Given the description of an element on the screen output the (x, y) to click on. 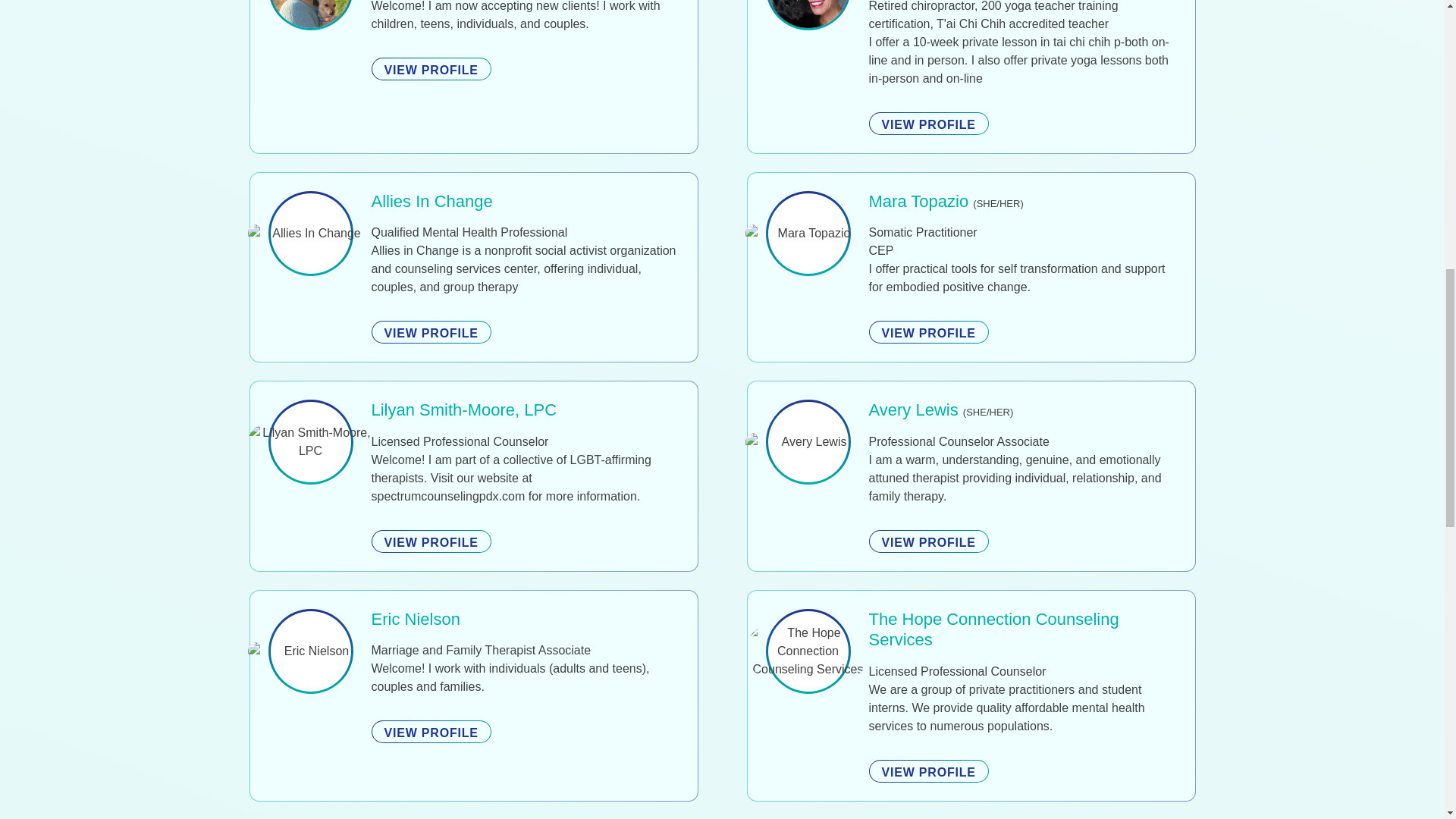
VIEW PROFILE (928, 123)
Allies In Change (432, 200)
Mara Topazio (919, 200)
Eric Nielson (415, 618)
VIEW PROFILE (431, 68)
Avery Lewis (913, 409)
Lilyan Smith-Moore, LPC (464, 409)
VIEW PROFILE (928, 540)
VIEW PROFILE (431, 540)
VIEW PROFILE (431, 332)
VIEW PROFILE (928, 332)
